Given the description of an element on the screen output the (x, y) to click on. 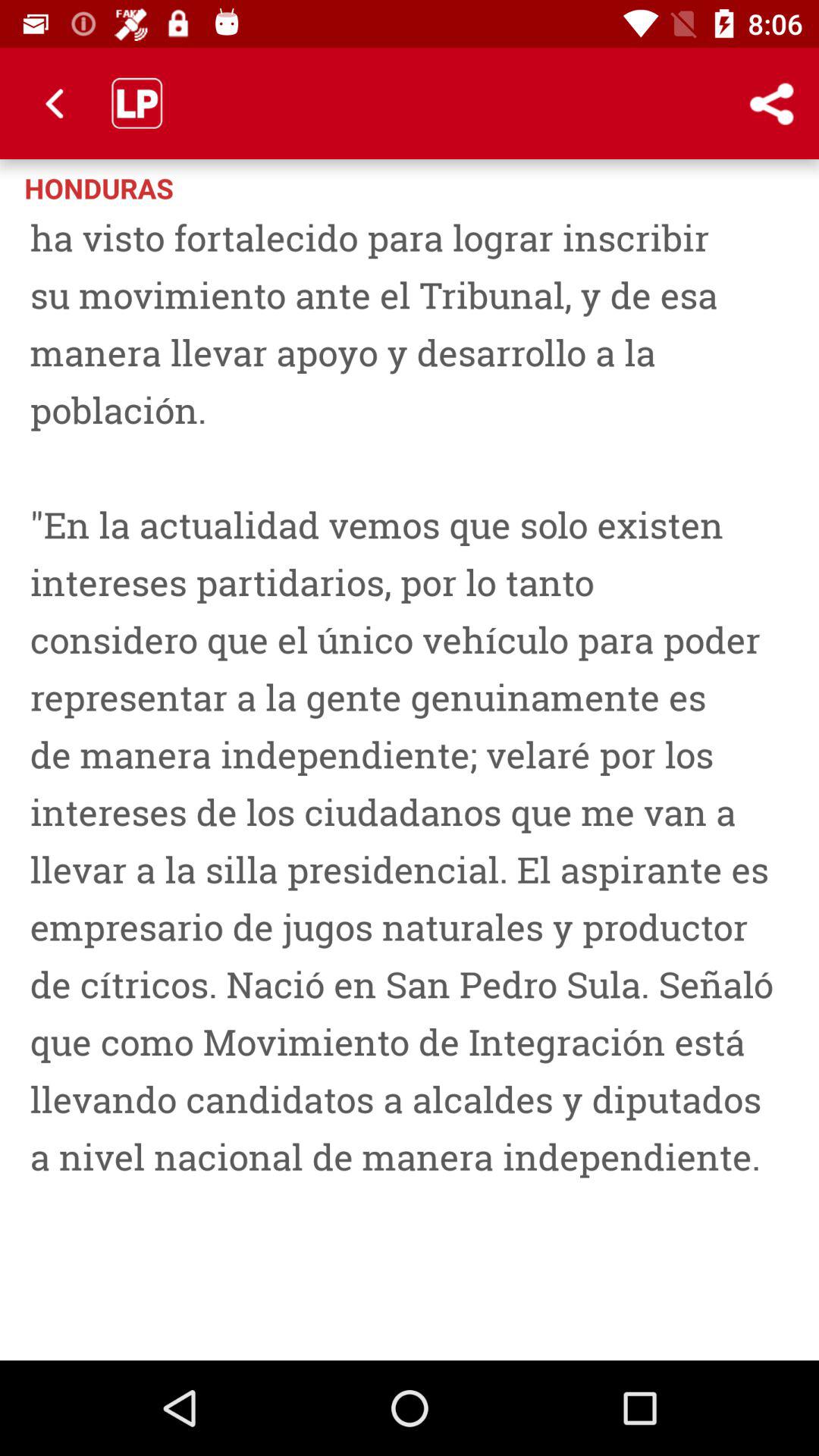
select item at the center (409, 778)
